Given the description of an element on the screen output the (x, y) to click on. 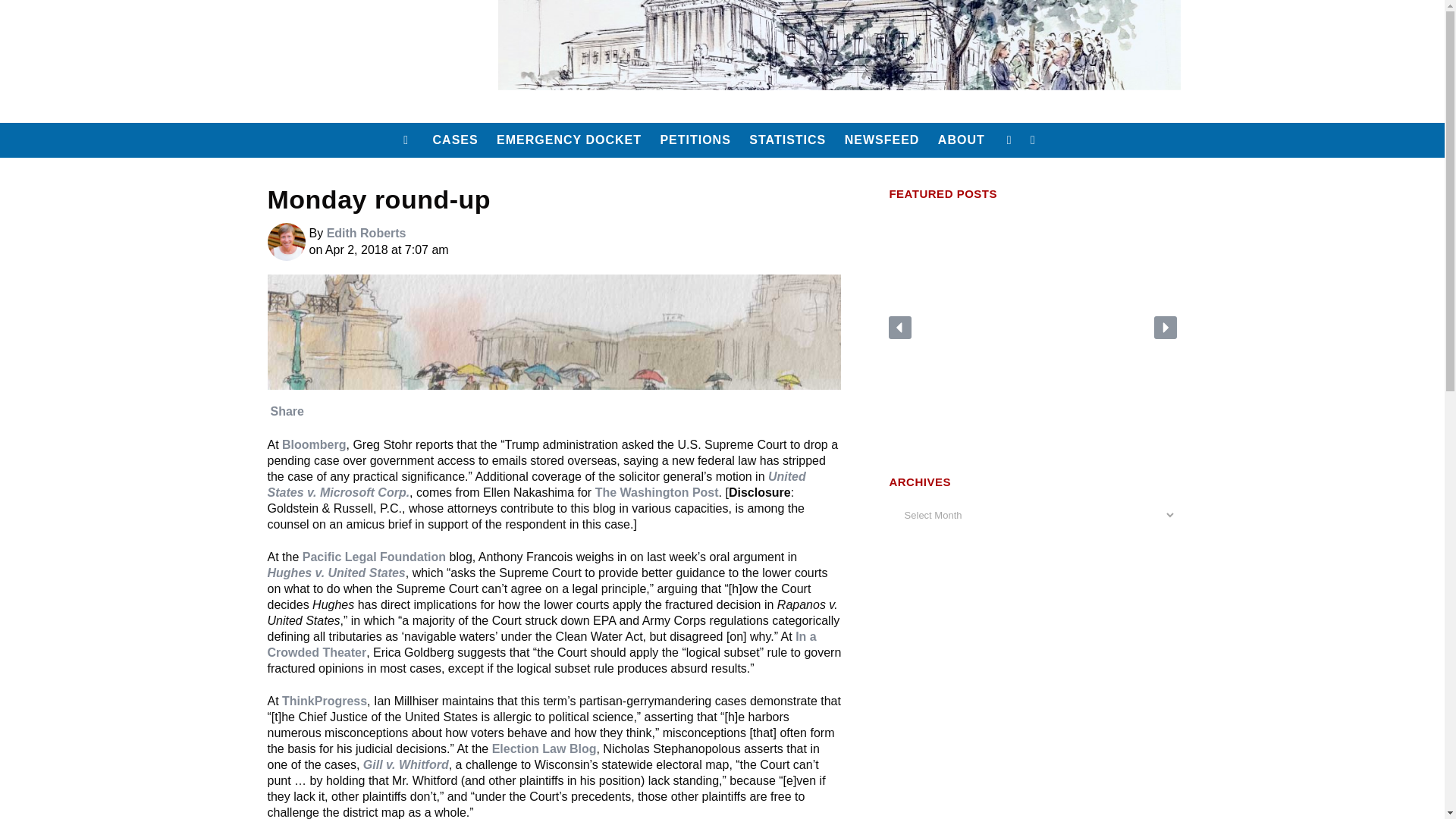
CASES (455, 140)
STATISTICS (786, 140)
PETITIONS (695, 140)
NEWSFEED (882, 140)
EMERGENCY DOCKET (569, 140)
ABOUT (961, 140)
